Given the description of an element on the screen output the (x, y) to click on. 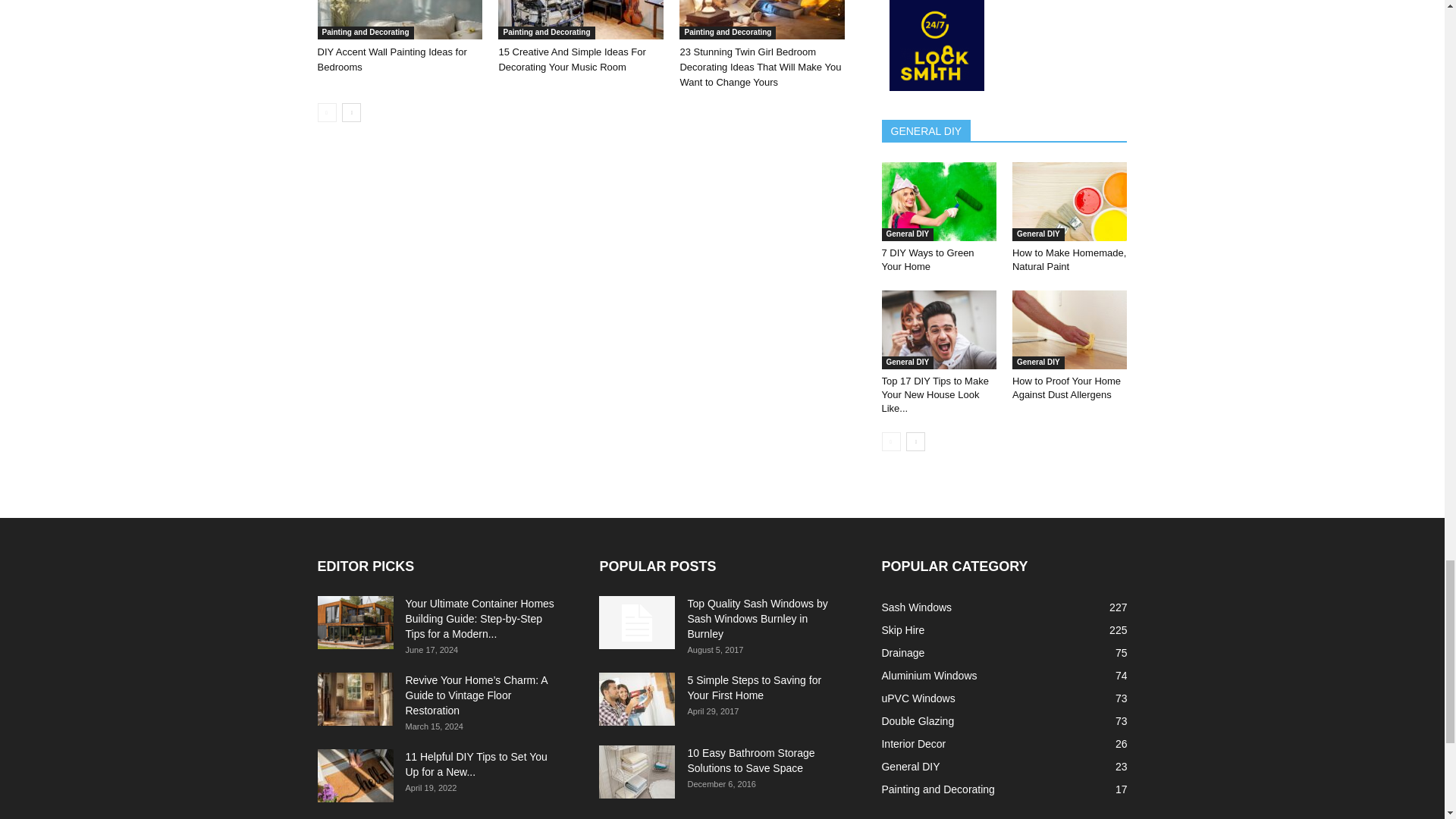
15 Creative And Simple Ideas For Decorating Your Music Room (571, 58)
DIY Accent Wall Painting Ideas for Bedrooms (399, 19)
15 Creative And Simple Ideas For Decorating Your Music Room (580, 19)
DIY Accent Wall Painting Ideas for Bedrooms (391, 58)
